Given the description of an element on the screen output the (x, y) to click on. 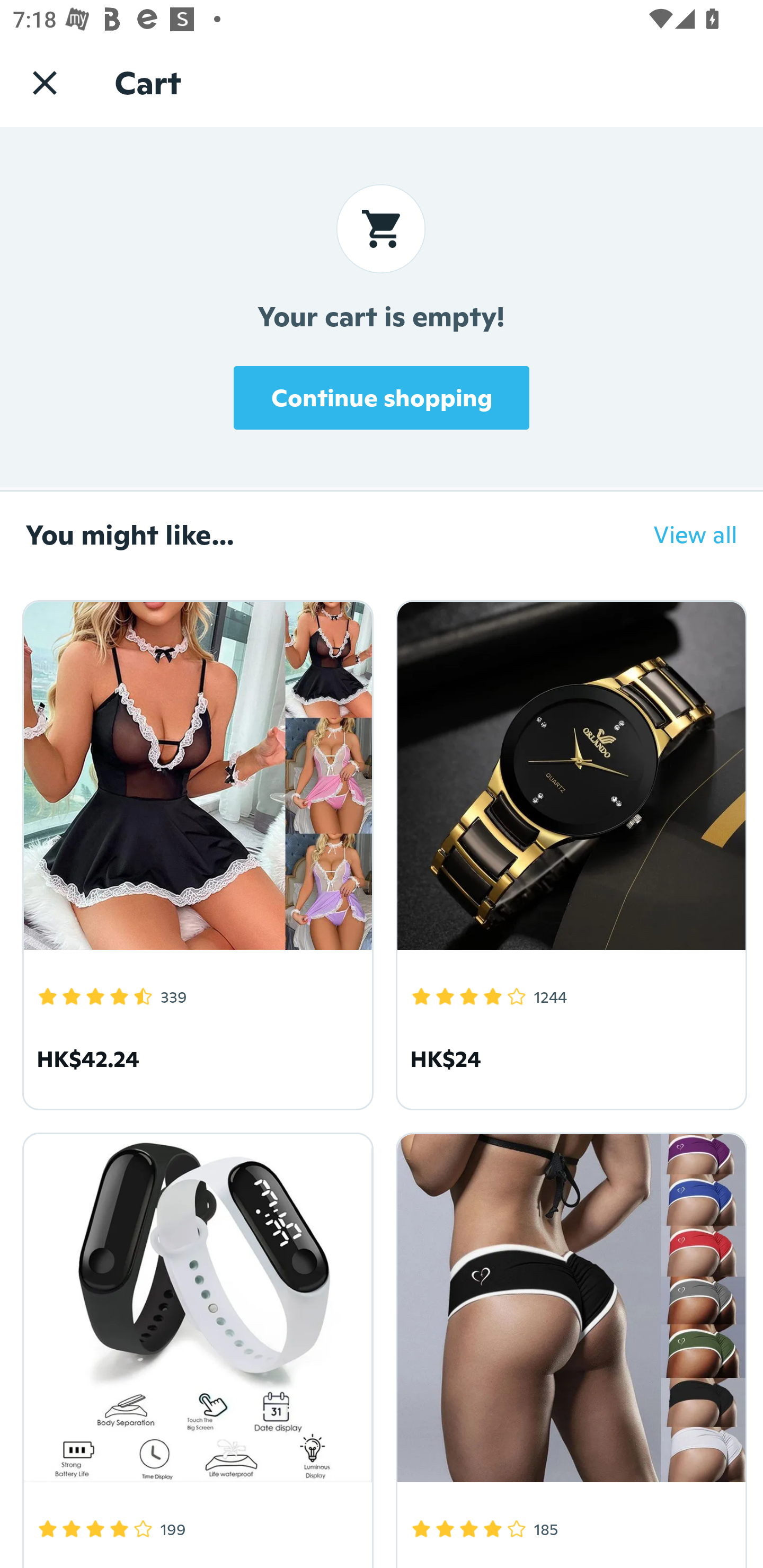
Navigate up (44, 82)
Continue shopping (381, 397)
View all (682, 534)
4.5 Star Rating 339 HK$42.24 (194, 852)
4.1 Star Rating 1244 HK$24 (567, 852)
3.8 Star Rating 199 (194, 1346)
4.2 Star Rating 185 (567, 1346)
